Given the description of an element on the screen output the (x, y) to click on. 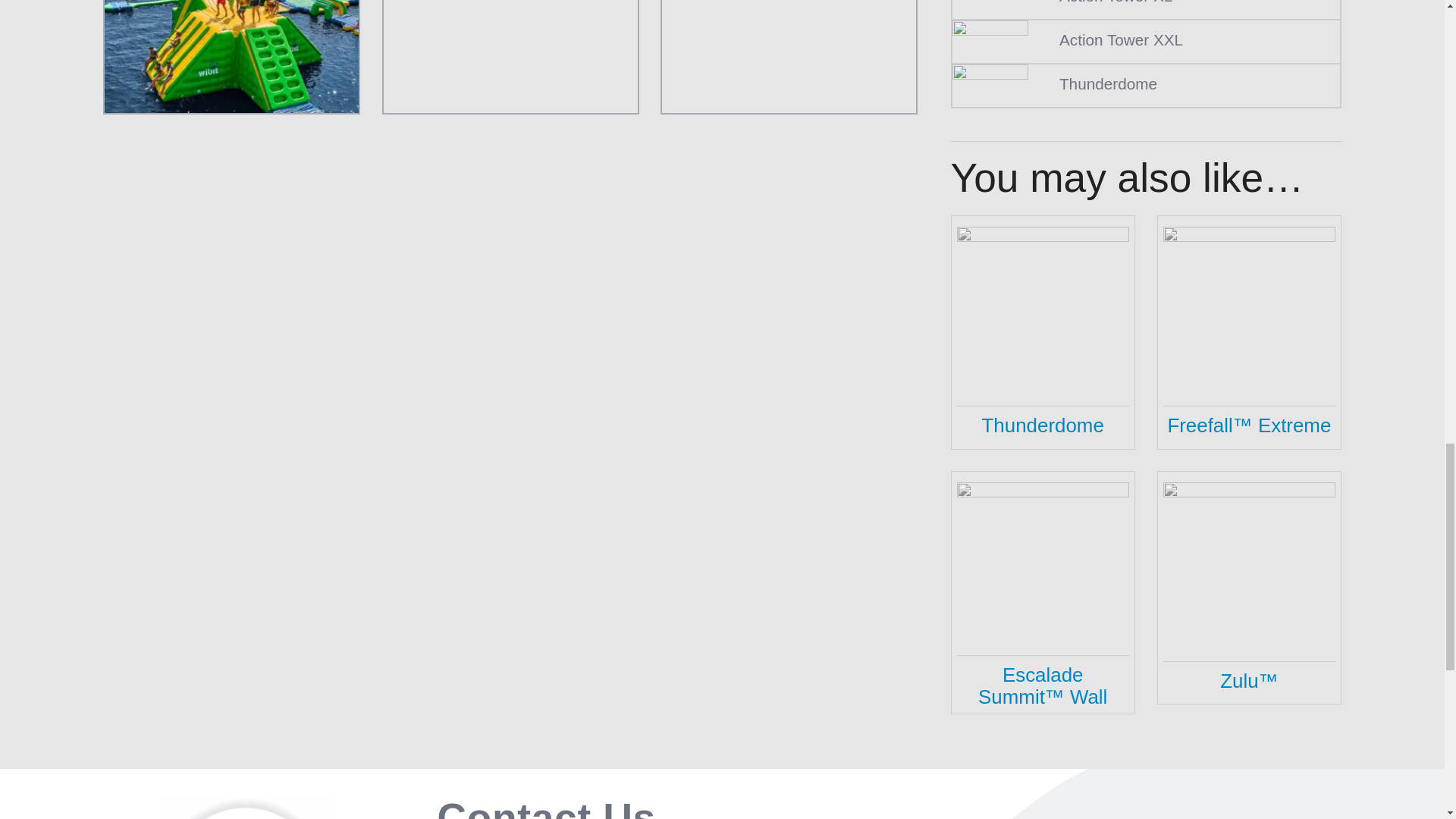
Mountain -gallery 3 (510, 56)
Mountain -gallery 2 (231, 56)
Mountain -gallery (788, 56)
